Given the description of an element on the screen output the (x, y) to click on. 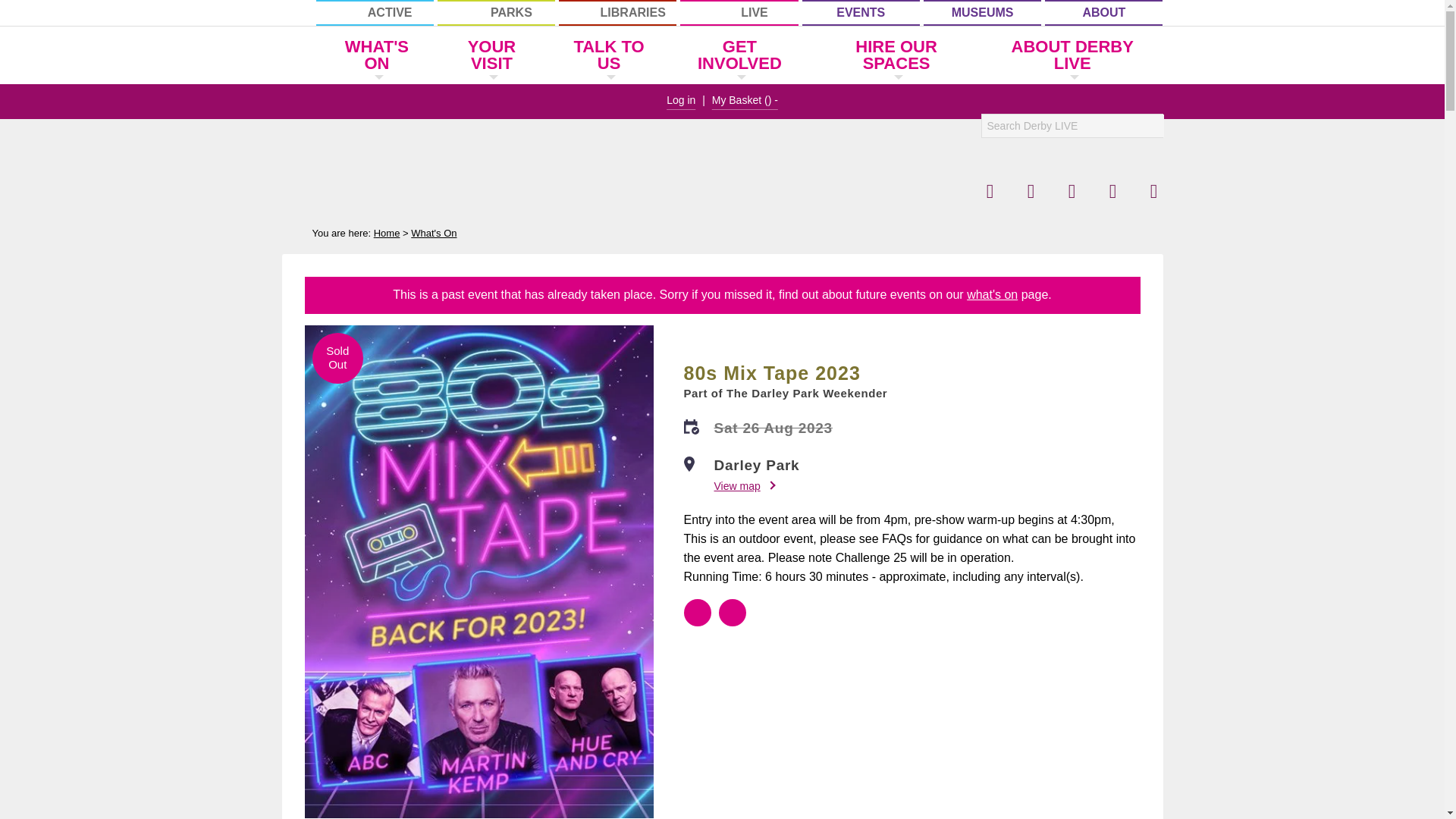
BSL Signed Performance (697, 612)
Search (1150, 125)
YouTube (1112, 191)
Twitter (1030, 191)
LIVE (738, 12)
LinkedIn (1152, 191)
ACTIVE (373, 12)
PARKS (496, 12)
Search (1150, 125)
EVENTS (861, 12)
